Given the description of an element on the screen output the (x, y) to click on. 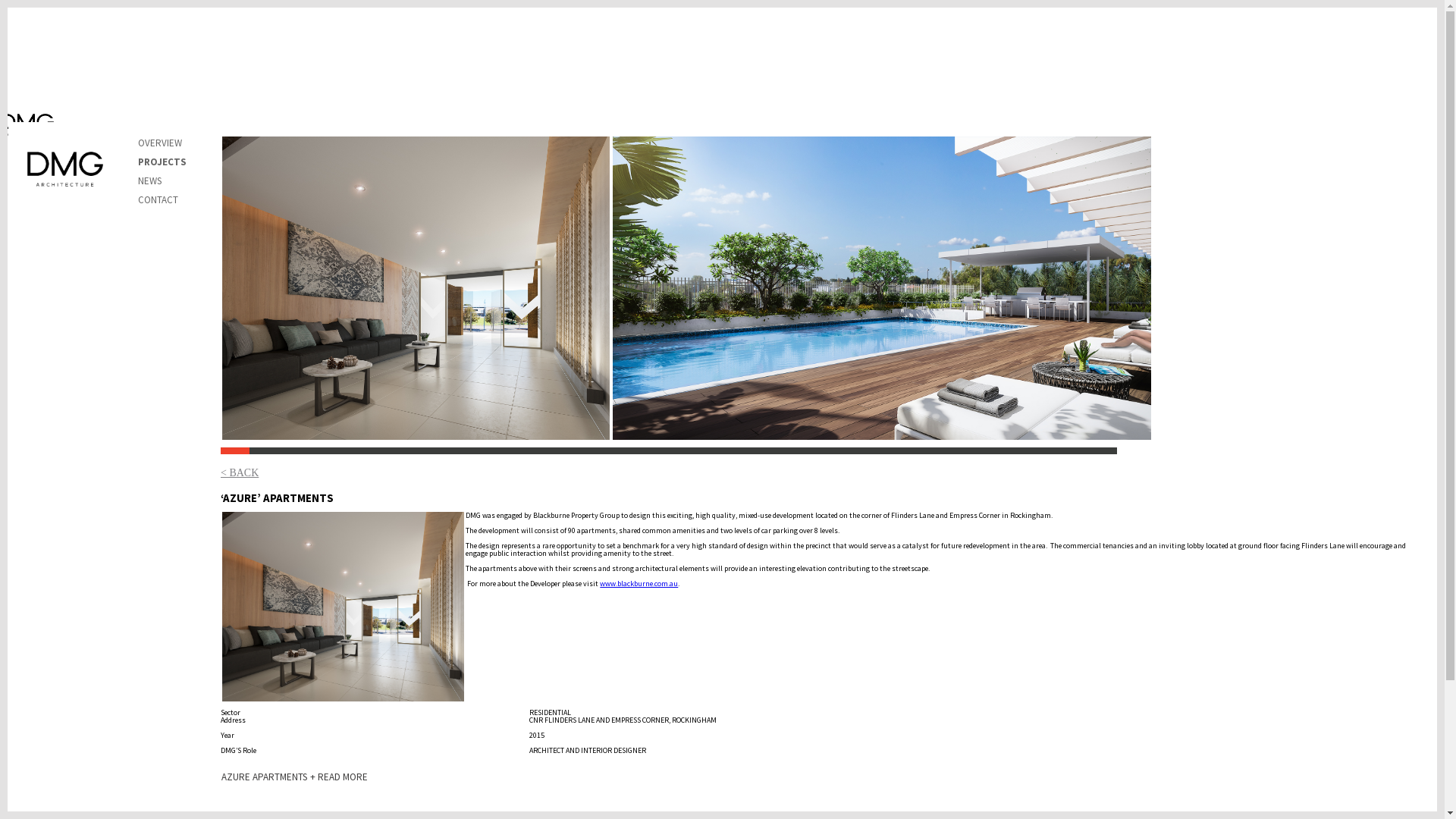
+ READ MORE Element type: text (338, 776)
< BACK Element type: text (67, 141)
PROJECTS Element type: text (162, 161)
< BACK Element type: text (239, 472)
OVERVIEW Element type: text (160, 142)
www.blackburne.com.au Element type: text (638, 583)
CONTACT Element type: text (158, 199)
AZURE APARTMENTS Element type: text (264, 776)
NEWS Element type: text (149, 180)
